Given the description of an element on the screen output the (x, y) to click on. 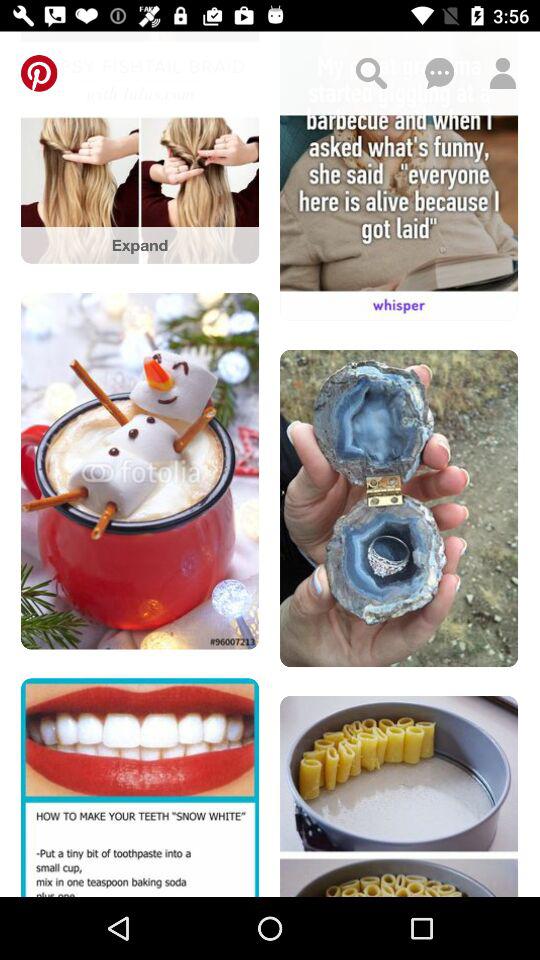
go back (39, 73)
